Given the description of an element on the screen output the (x, y) to click on. 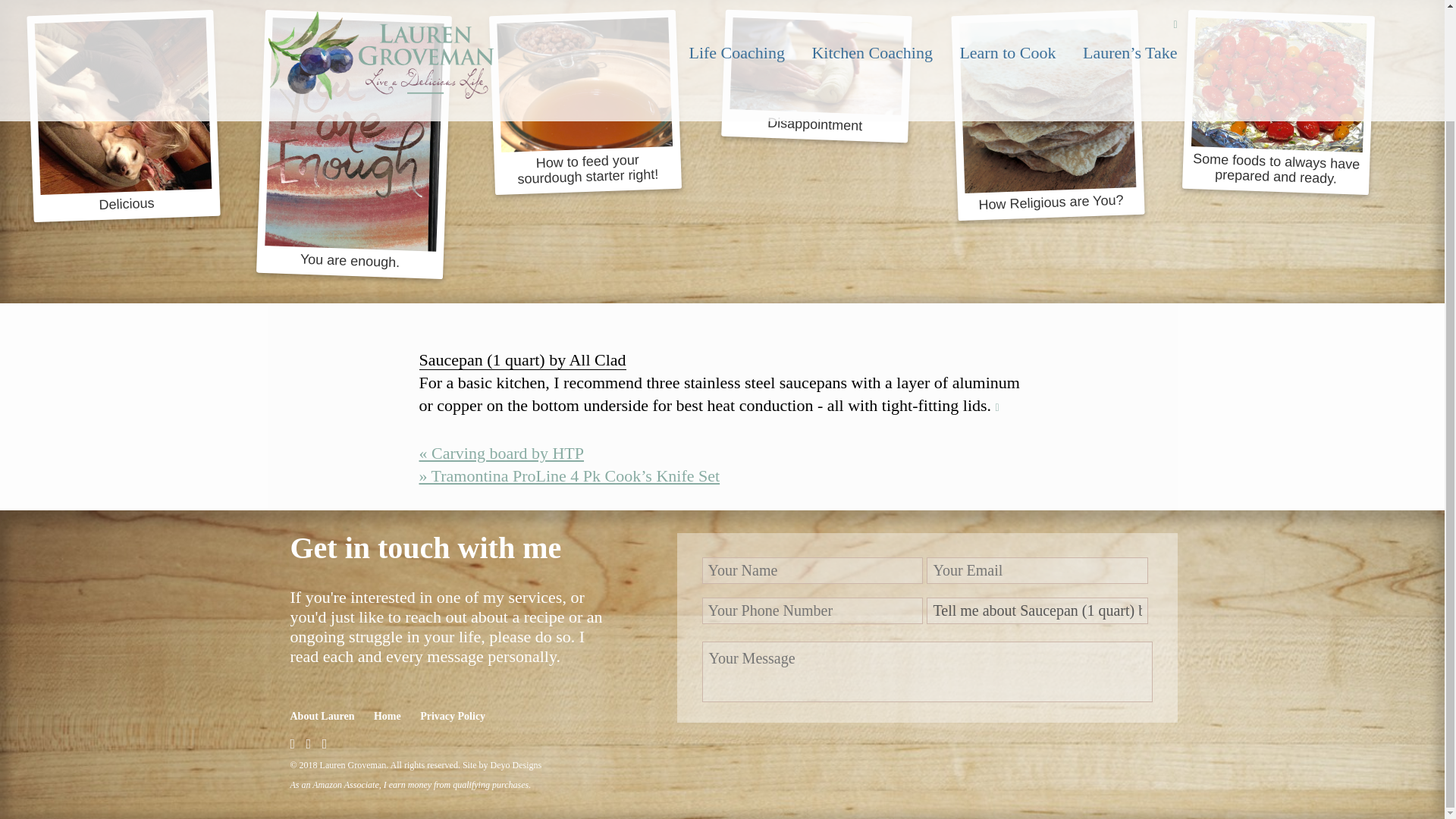
About Lauren (321, 715)
How Religious are You? (1043, 111)
Some foods to always have prepared and ready. (1275, 98)
Disappointment (813, 72)
Home (387, 715)
How to feed your sourdough starter right! (582, 98)
Privacy Policy (452, 715)
Delicious (119, 112)
